Given the description of an element on the screen output the (x, y) to click on. 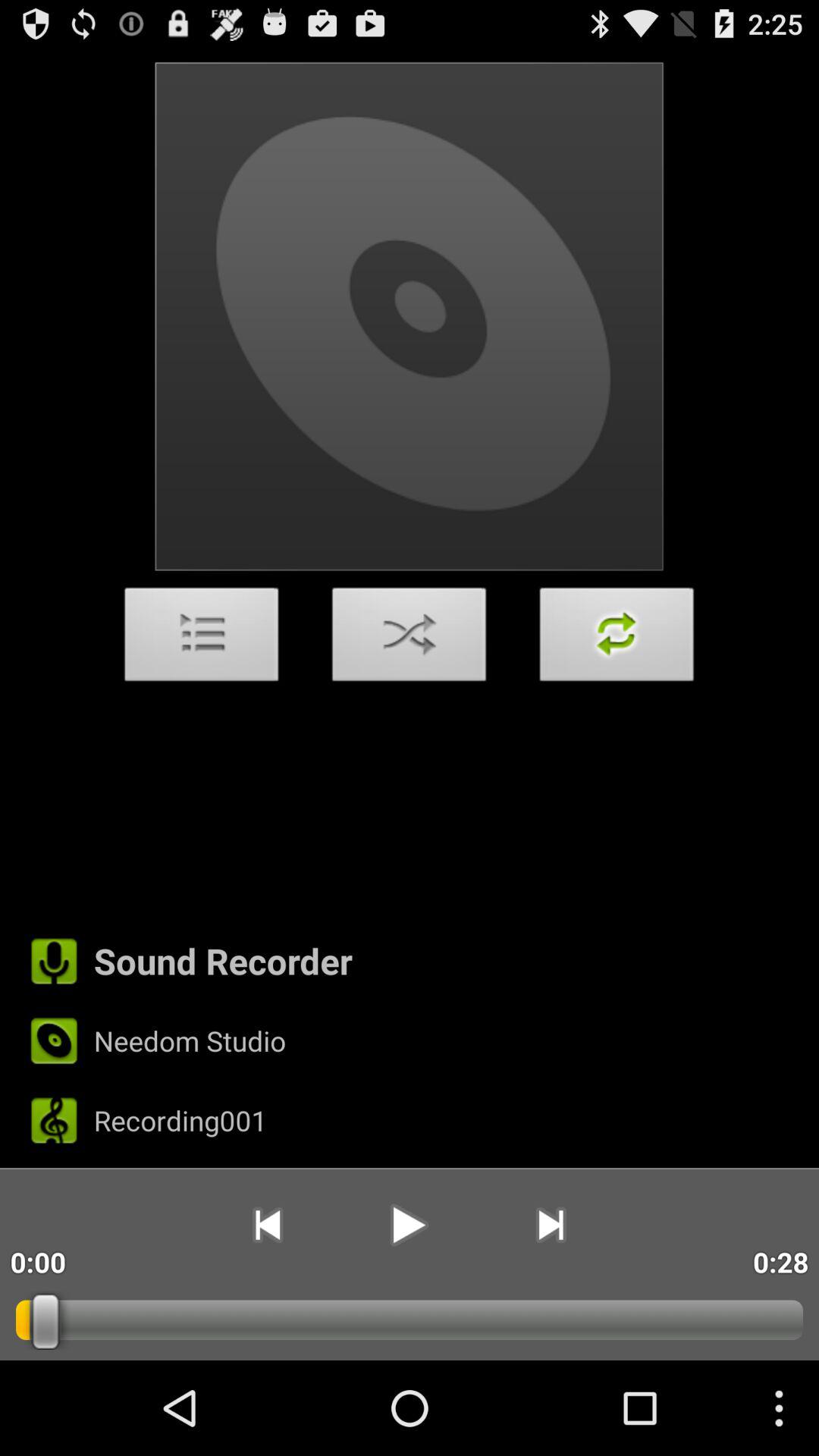
select the app to the right of the 0:00 item (267, 1224)
